Given the description of an element on the screen output the (x, y) to click on. 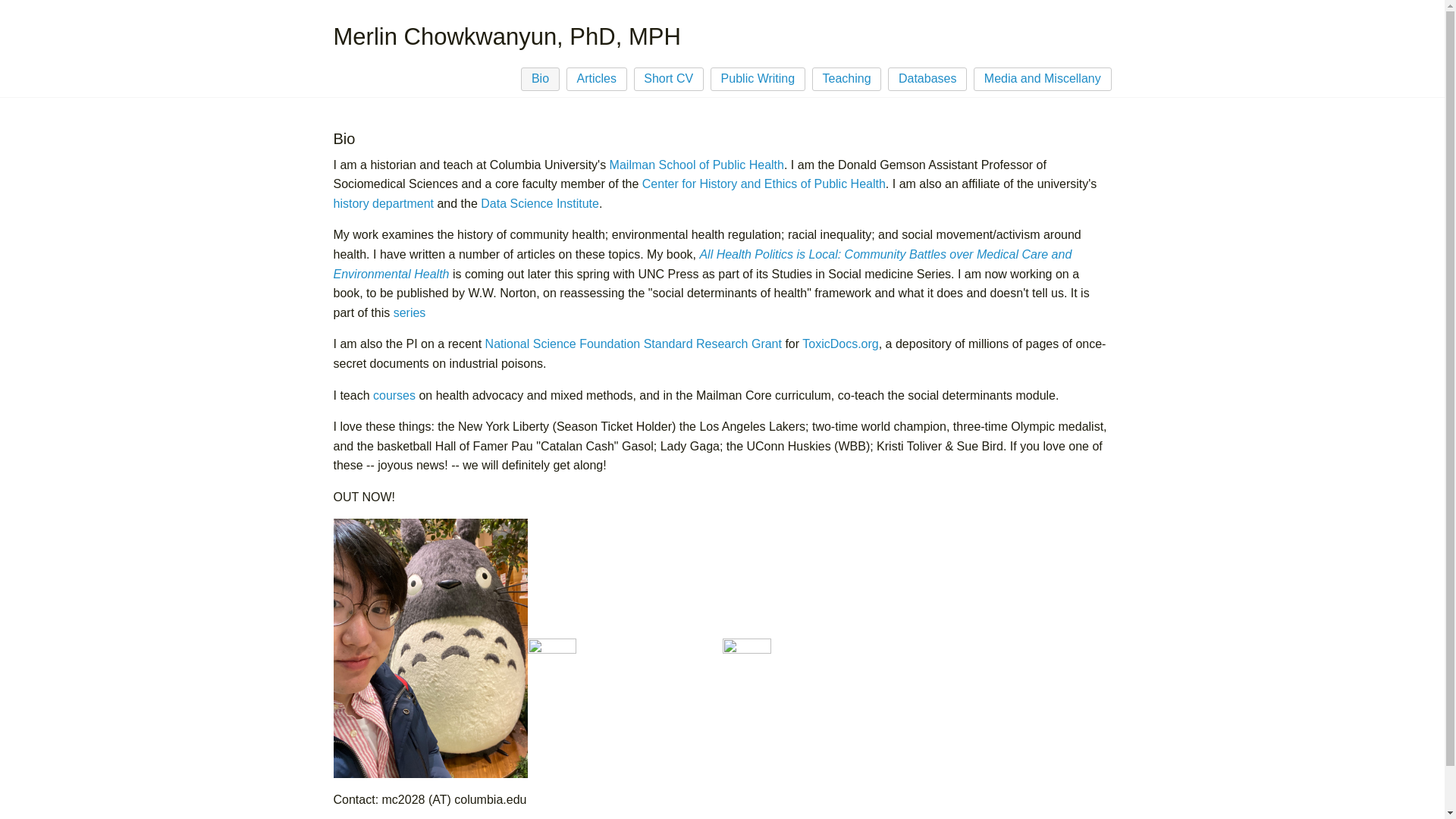
Short CV (668, 78)
Bio (540, 78)
series (409, 312)
history department (383, 203)
Public Writing (757, 78)
Data Science Institute (539, 203)
Databases (927, 78)
Center for History and Ethics of Public Health (763, 183)
ToxicDocs.org (839, 343)
